Given the description of an element on the screen output the (x, y) to click on. 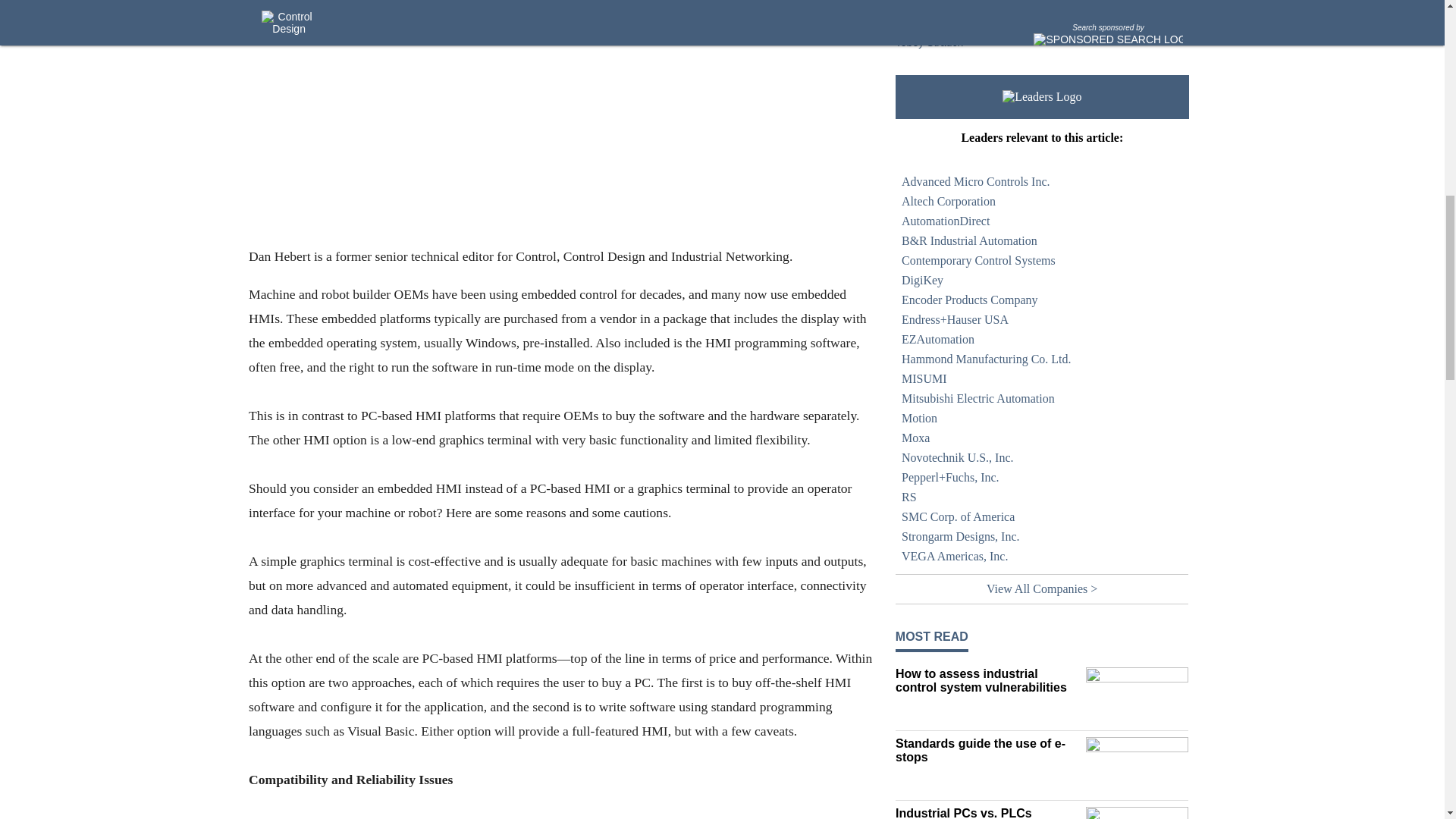
Tobey Strauch (929, 42)
How has the human-machine interface changed? (986, 16)
hebert (560, 122)
HMI (986, 1)
Altech Corporation (1042, 201)
Advanced Micro Controls Inc. (1042, 181)
